Given the description of an element on the screen output the (x, y) to click on. 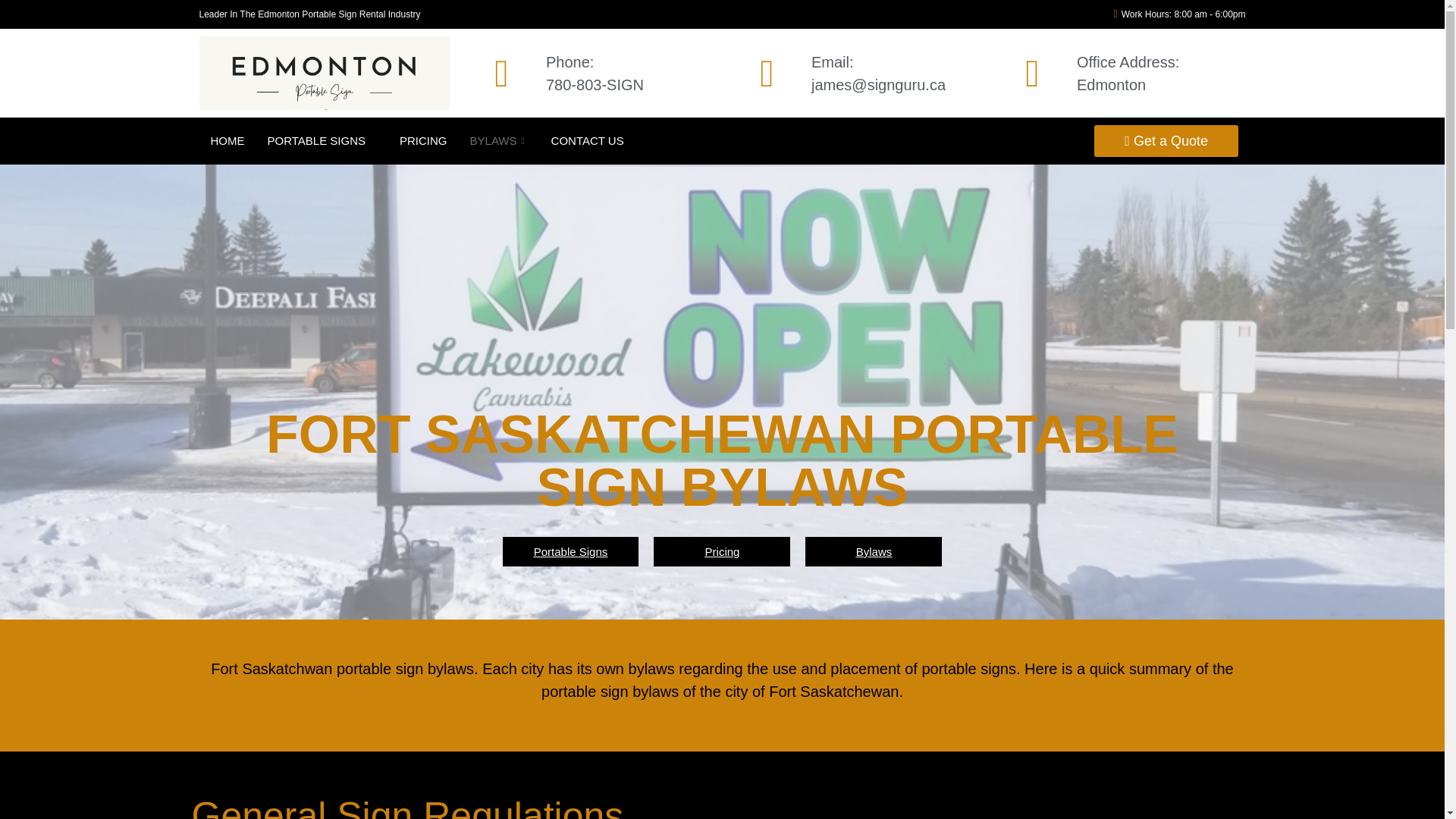
HOME (227, 140)
Bylaws (608, 72)
BYLAWS (873, 551)
Pricing (499, 140)
PRICING (721, 551)
CONTACT US (423, 140)
Portable Signs (587, 140)
PORTABLE SIGNS (570, 551)
Get a Quote (322, 140)
